Given the description of an element on the screen output the (x, y) to click on. 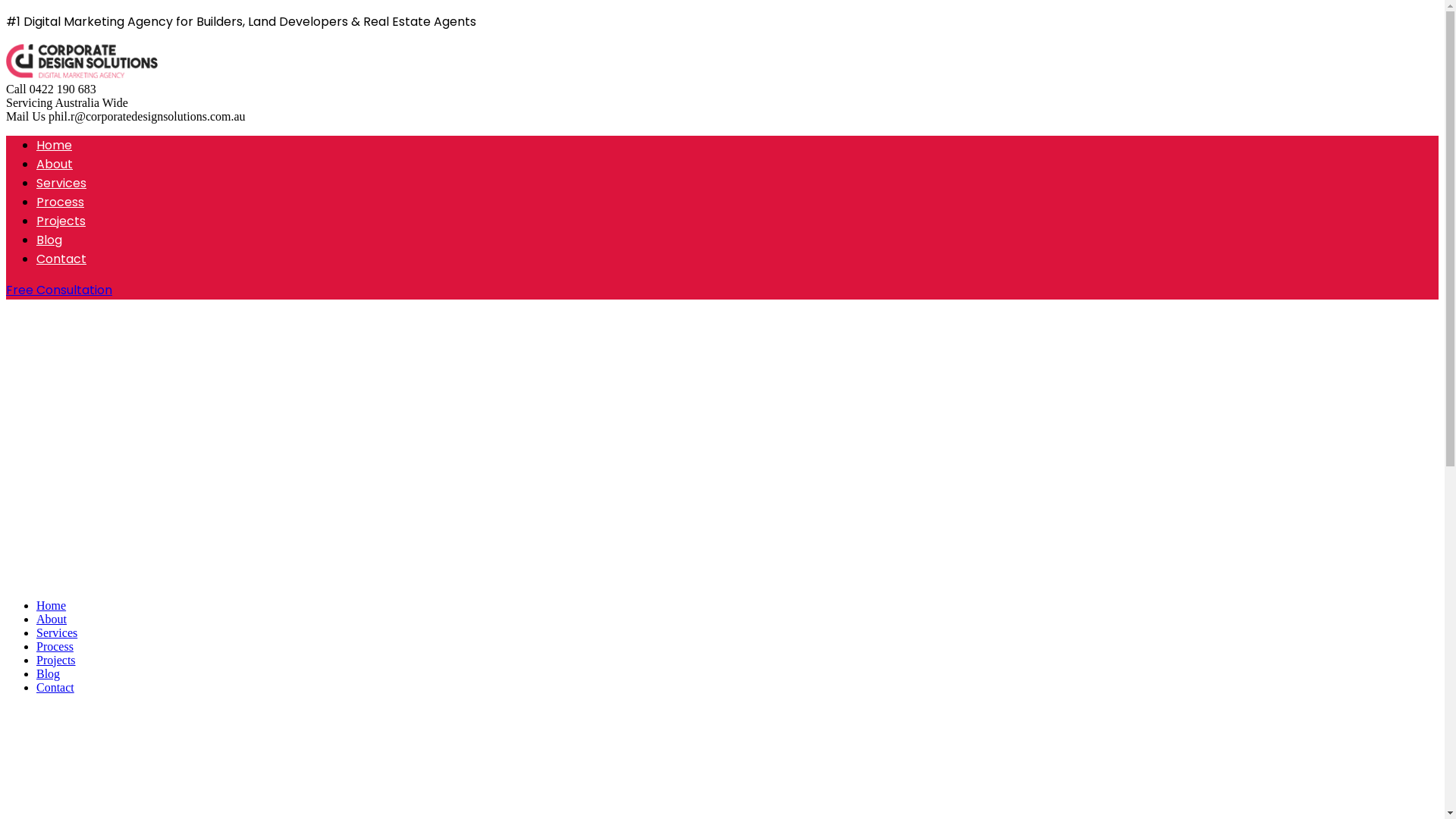
Projects Element type: text (55, 659)
Home Element type: text (54, 144)
About Element type: text (51, 618)
Blog Element type: text (47, 673)
Contact Element type: text (55, 686)
Services Element type: text (56, 632)
Services Element type: text (61, 182)
Contact Element type: text (61, 258)
Projects Element type: text (60, 220)
Free Consultation Element type: text (59, 289)
Process Element type: text (54, 646)
About Element type: text (54, 163)
Blog Element type: text (49, 239)
Process Element type: text (60, 201)
Home Element type: text (50, 605)
